Given the description of an element on the screen output the (x, y) to click on. 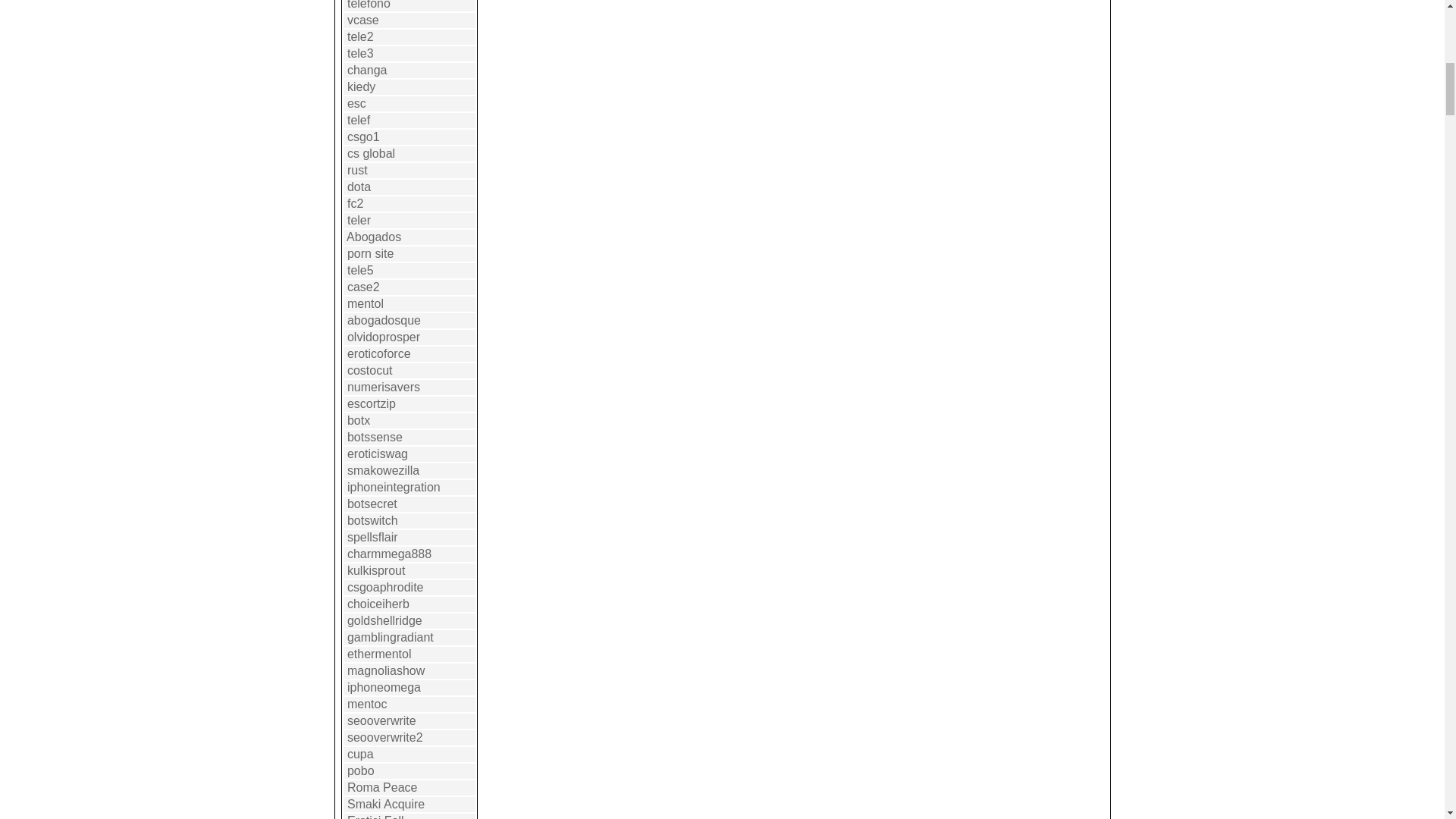
tele2 (360, 36)
telefono (368, 4)
vcase (362, 19)
